Given the description of an element on the screen output the (x, y) to click on. 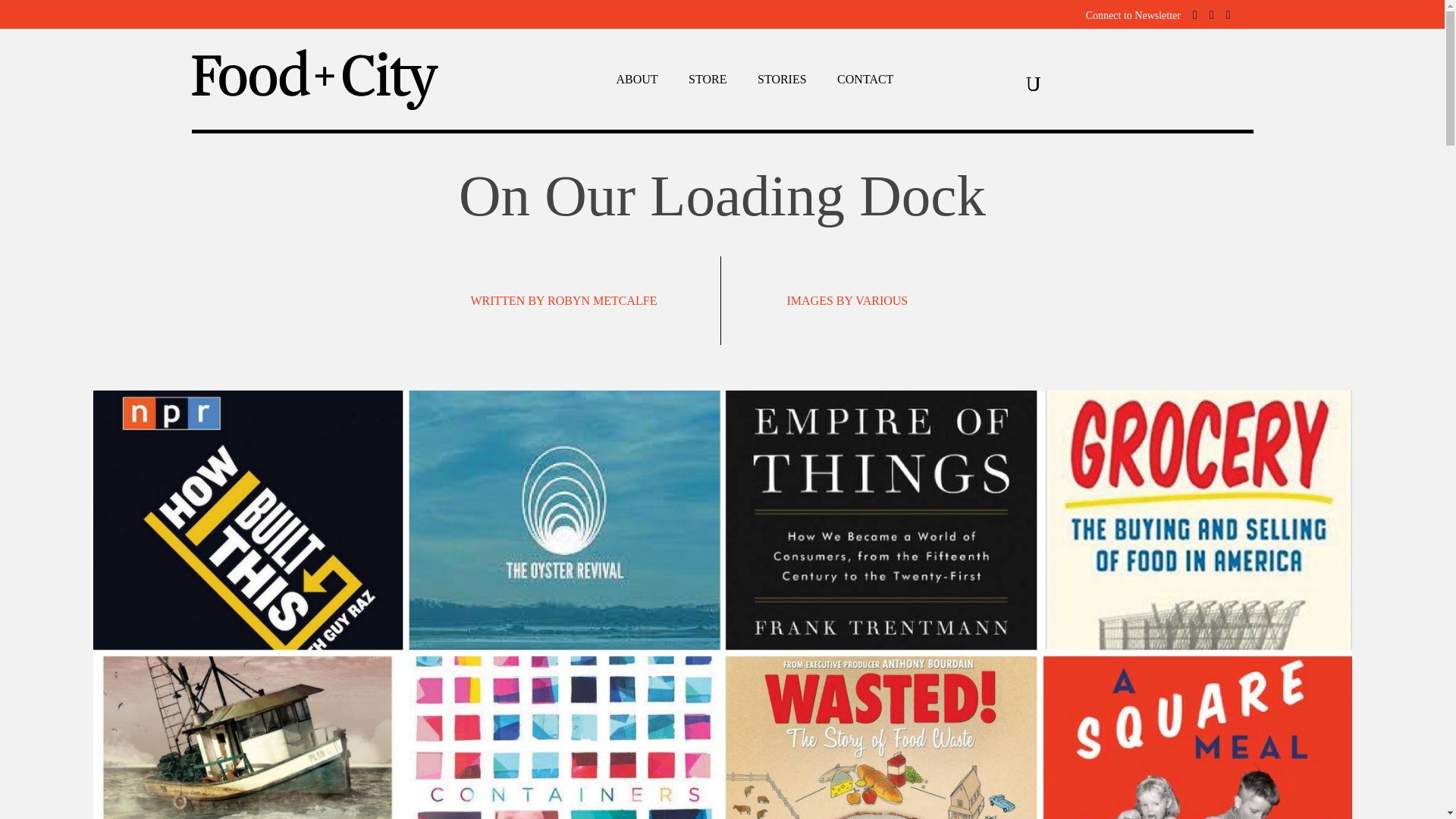
Connect to Newsletter (1133, 15)
ABOUT (636, 83)
CONTACT (865, 83)
STORIES (781, 83)
STORE (707, 83)
